Given the description of an element on the screen output the (x, y) to click on. 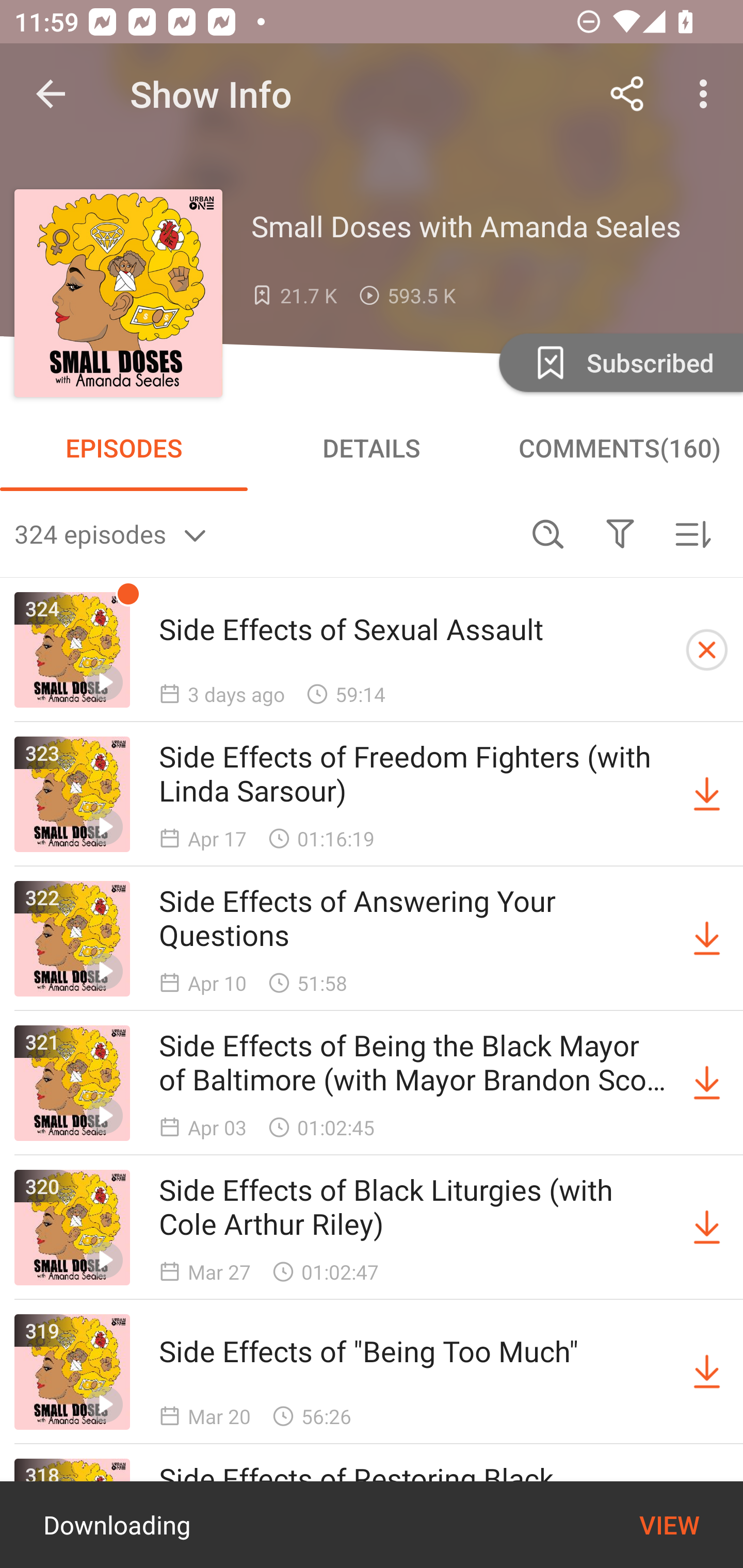
Navigate up (50, 93)
Share (626, 93)
More options (706, 93)
Unsubscribe Subscribed (619, 361)
EPISODES (123, 447)
DETAILS (371, 447)
COMMENTS(160) (619, 447)
324 episodes  (262, 533)
 Search (547, 533)
 (619, 533)
 Sorted by newest first (692, 533)
Cancel Downloading (706, 649)
Download (706, 793)
Download (706, 939)
Download (706, 1083)
Download (706, 1227)
Download (706, 1371)
100.0 Medicine Woman Played Play (371, 1524)
VIEW (669, 1524)
